Given the description of an element on the screen output the (x, y) to click on. 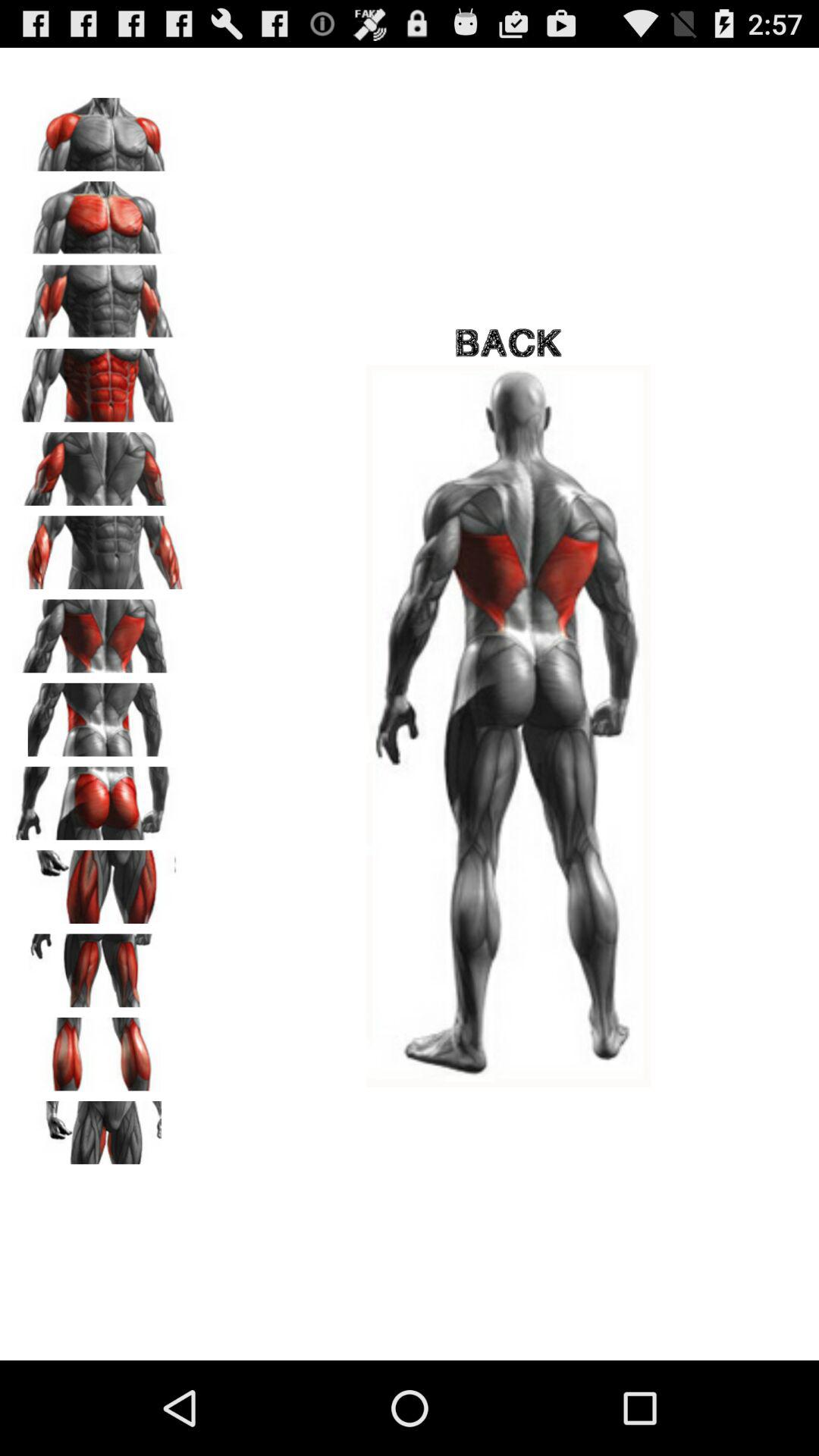
show abs (99, 380)
